Given the description of an element on the screen output the (x, y) to click on. 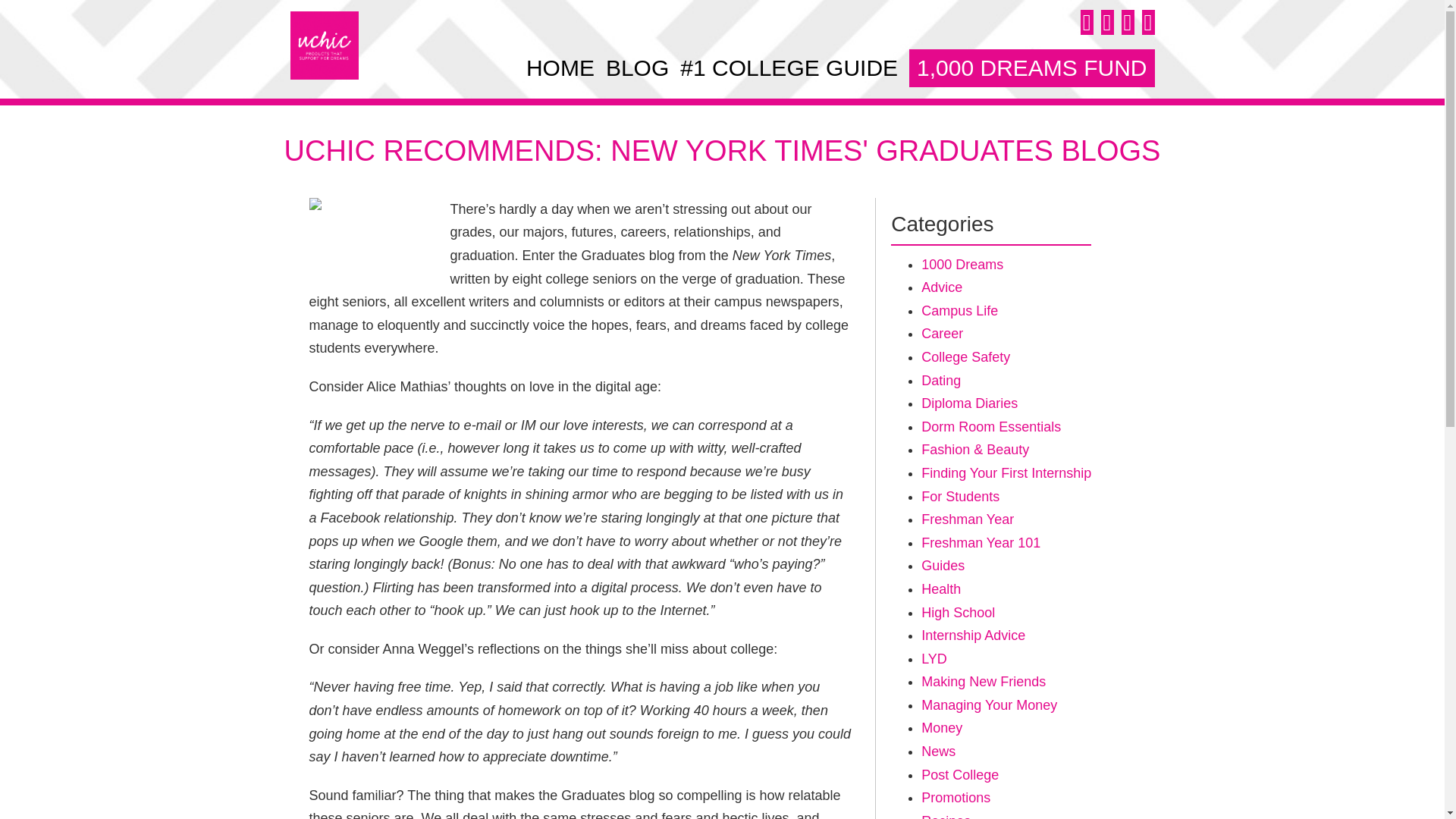
Diploma Diaries (969, 403)
Advice (941, 287)
Guides (942, 565)
Campus Life (959, 310)
Freshman Year 101 (981, 542)
Freshman Year (967, 519)
Finding Your First Internship (1005, 473)
College Safety (965, 356)
1,000 DREAMS FUND (1031, 67)
Dorm Room Essentials (991, 426)
